Given the description of an element on the screen output the (x, y) to click on. 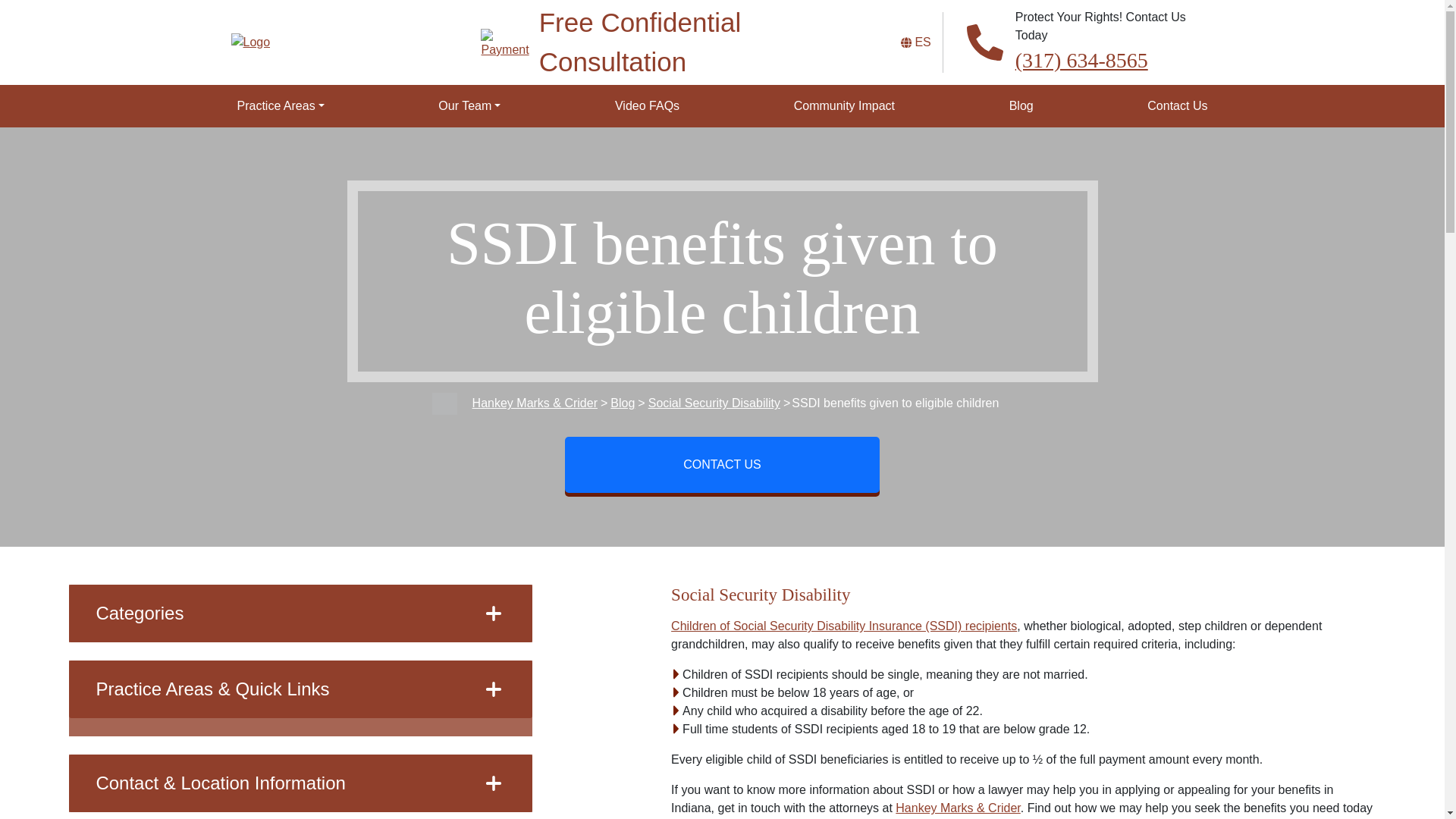
Spanish (922, 42)
ES (922, 42)
Go to the Social Security Disability Category archives. (714, 402)
Go to Blog. (622, 402)
